Given the description of an element on the screen output the (x, y) to click on. 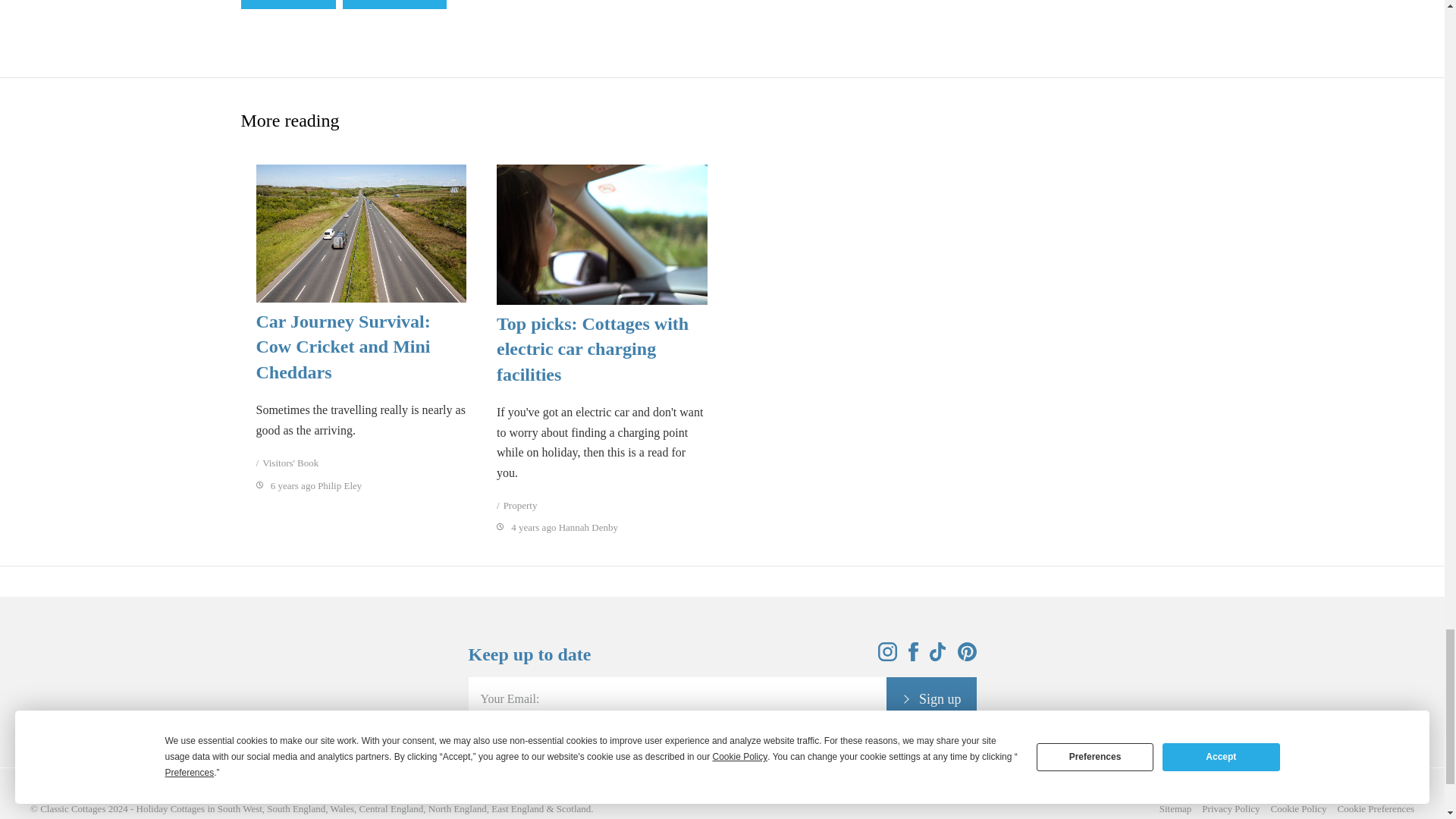
Follow Classic Cottages Instagram (886, 656)
Follow Classic Cottages Pinterest (965, 656)
Follow Classic Cottages Tik Tok (938, 656)
